Given the description of an element on the screen output the (x, y) to click on. 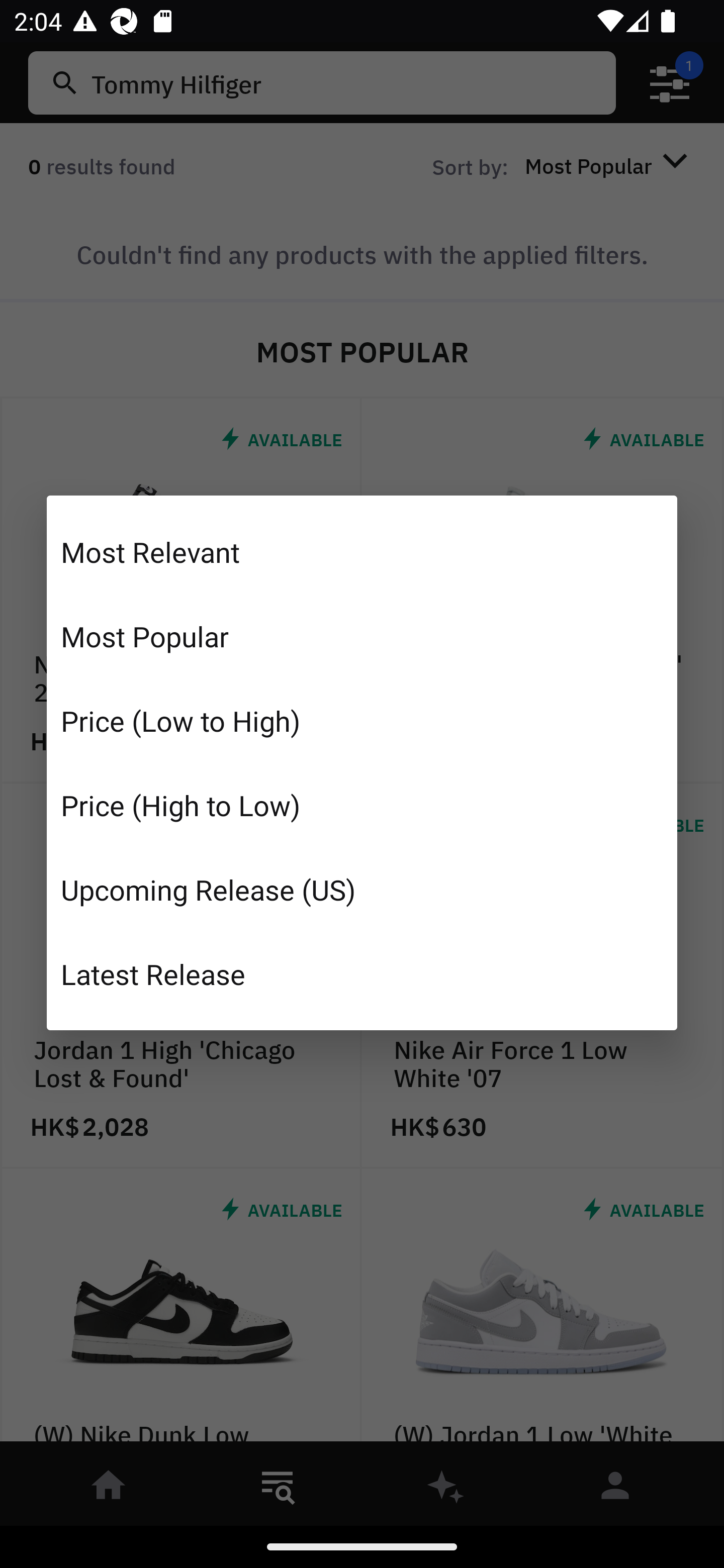
Most Relevant (361, 551)
Most Popular (361, 636)
Price (Low to High) (361, 720)
Price (High to Low) (361, 804)
Upcoming Release (US) (361, 888)
Latest Release (361, 973)
